Given the description of an element on the screen output the (x, y) to click on. 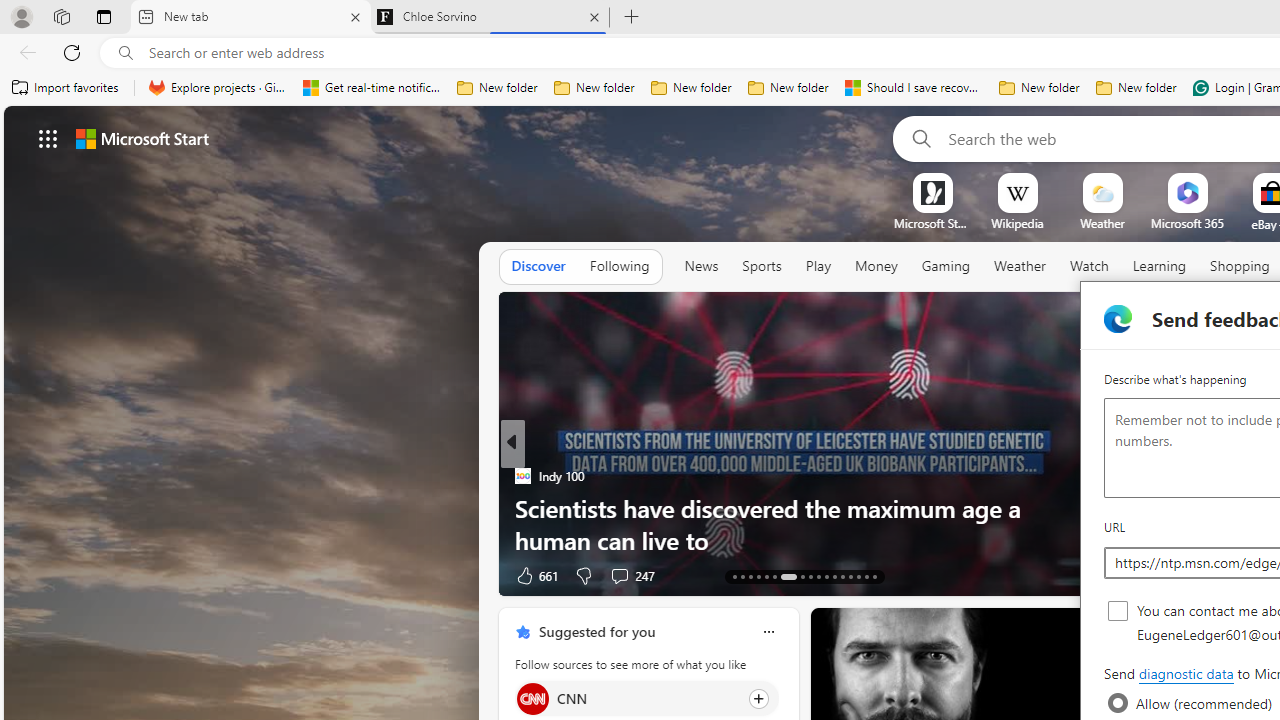
Weather (1020, 265)
AutomationID: tab-17 (765, 576)
Import favorites (65, 88)
AutomationID: tab-20 (801, 576)
Hide this story (1050, 632)
View comments 58 Comment (11, 575)
Shopping (1240, 265)
AutomationID: tab-21 (810, 576)
Microsoft Start Gaming (932, 223)
AutomationID: tab-25 (842, 576)
